Given the description of an element on the screen output the (x, y) to click on. 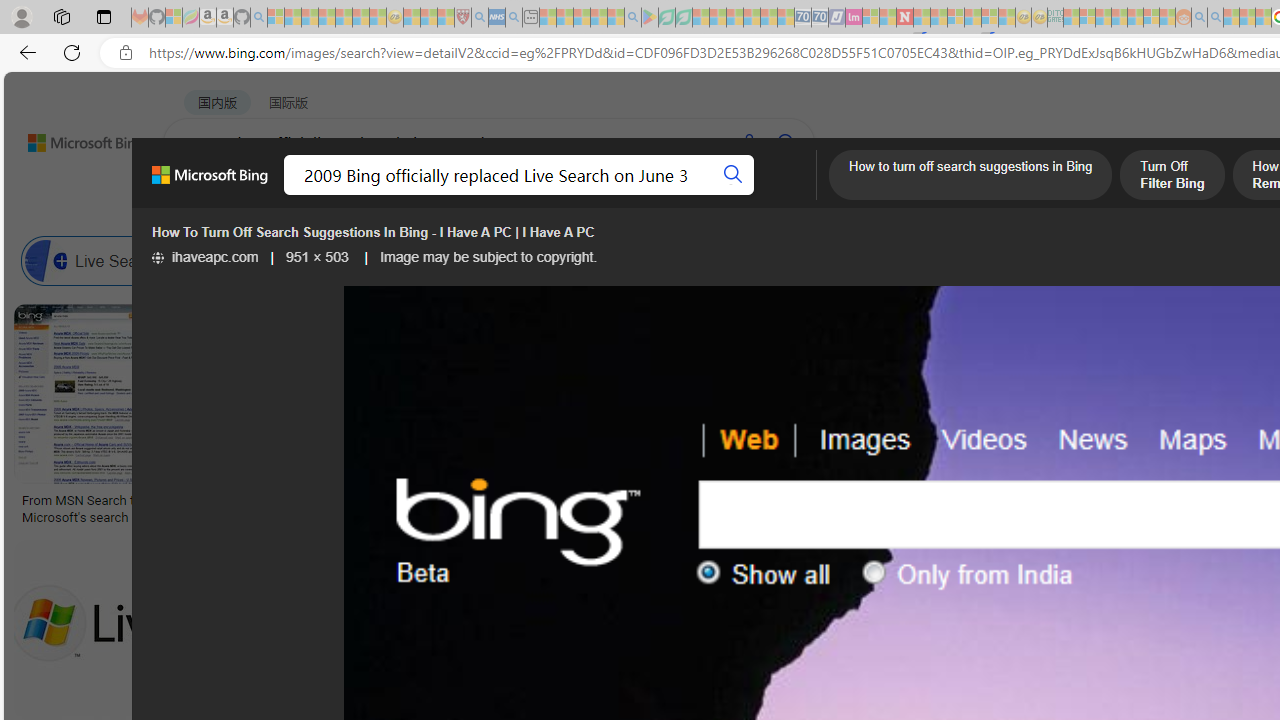
Bluey: Let's Play! - Apps on Google Play - Sleeping (649, 17)
ihaveapc.com (204, 257)
Microsoft account | Privacy - Sleeping (1087, 17)
New tab - Sleeping (530, 17)
New Report Confirms 2023 Was Record Hot | Watch - Sleeping (343, 17)
IMAGES (360, 195)
NCL Adult Asthma Inhaler Choice Guideline - Sleeping (497, 17)
Trusted Community Engagement and Contributions | Guidelines (921, 17)
list of asthma inhalers uk - Search - Sleeping (479, 17)
